Given the description of an element on the screen output the (x, y) to click on. 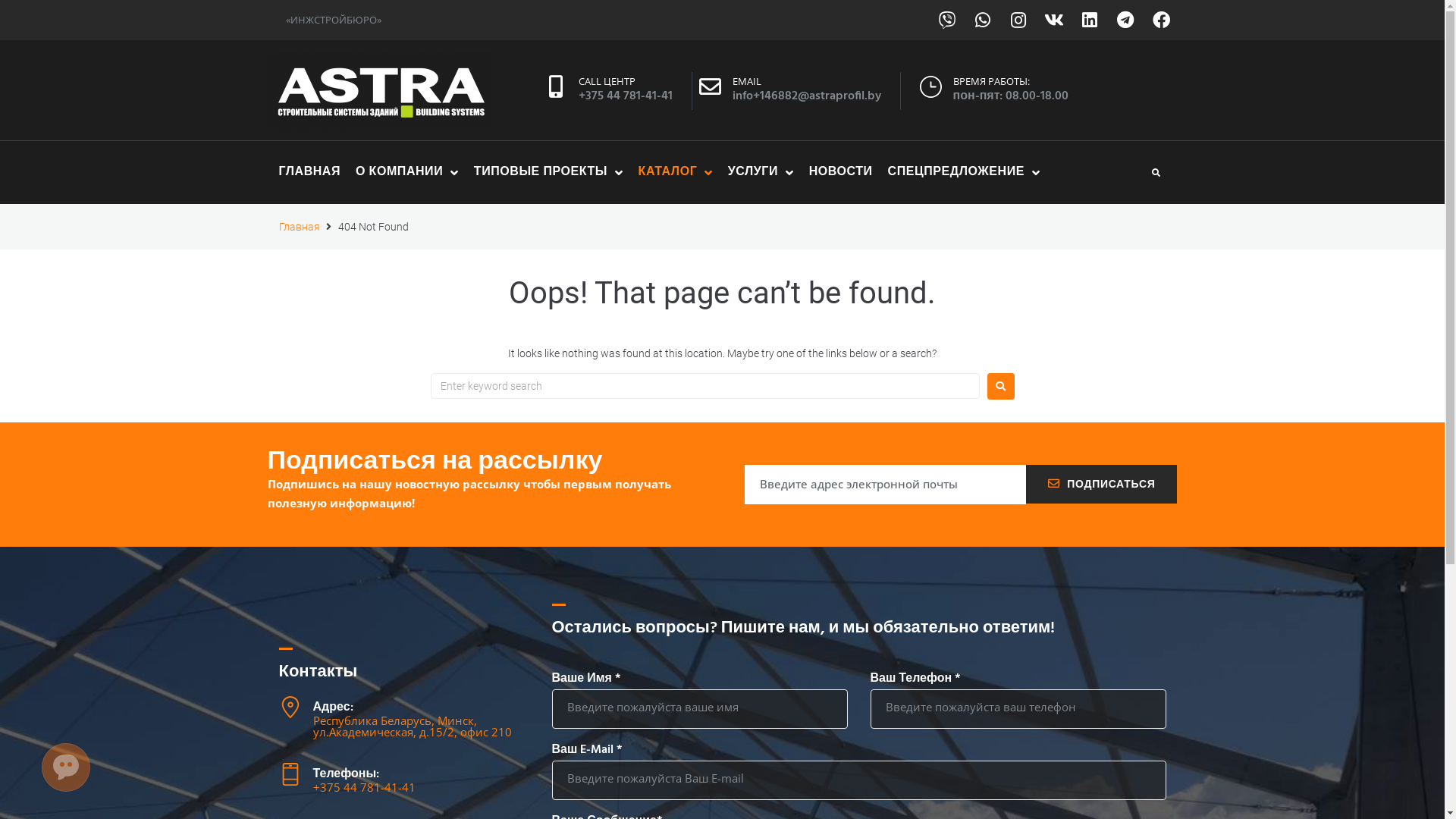
+375 44 781-41-41 Element type: text (363, 786)
+375 44 781-41-41 Element type: text (625, 96)
info+146882@astraprofil.by Element type: text (806, 96)
